Given the description of an element on the screen output the (x, y) to click on. 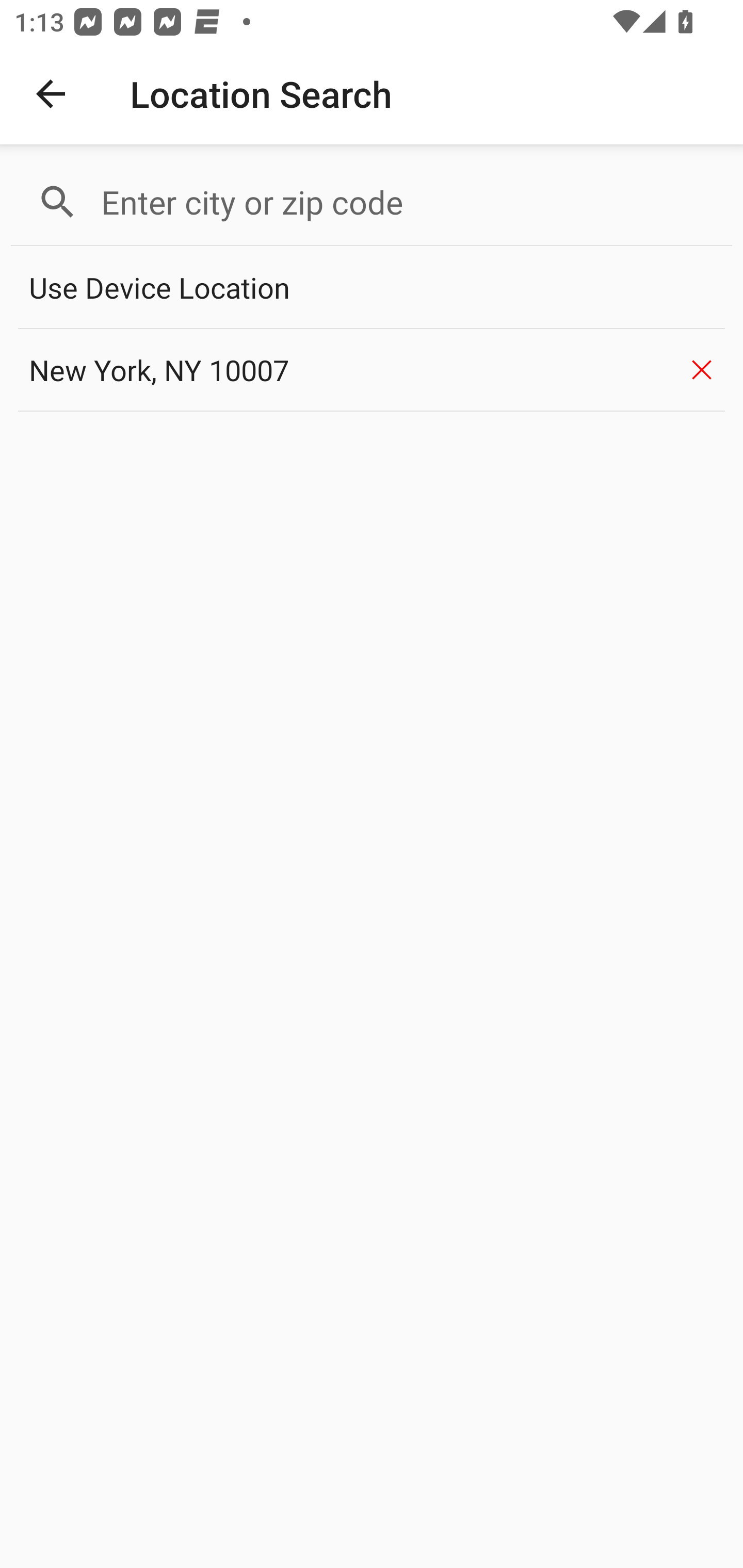
Navigate up (50, 93)
Enter city or zip code (407, 202)
Use Device Location (371, 287)
